Given the description of an element on the screen output the (x, y) to click on. 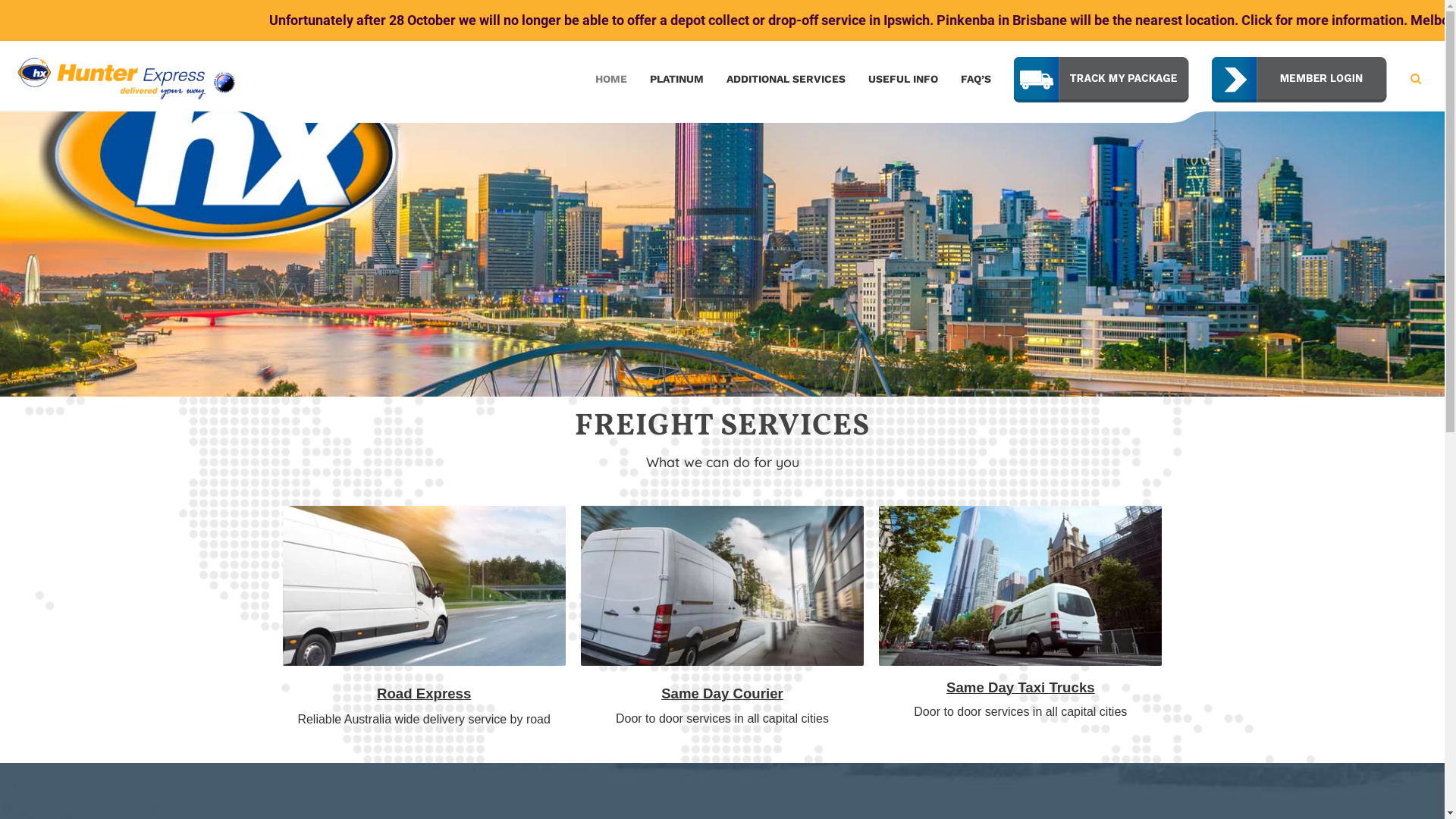
ADDITIONAL SERVICES Element type: text (785, 78)
HOME Element type: text (611, 78)
USEFUL INFO Element type: text (903, 78)
PLATINUM Element type: text (676, 78)
